Given the description of an element on the screen output the (x, y) to click on. 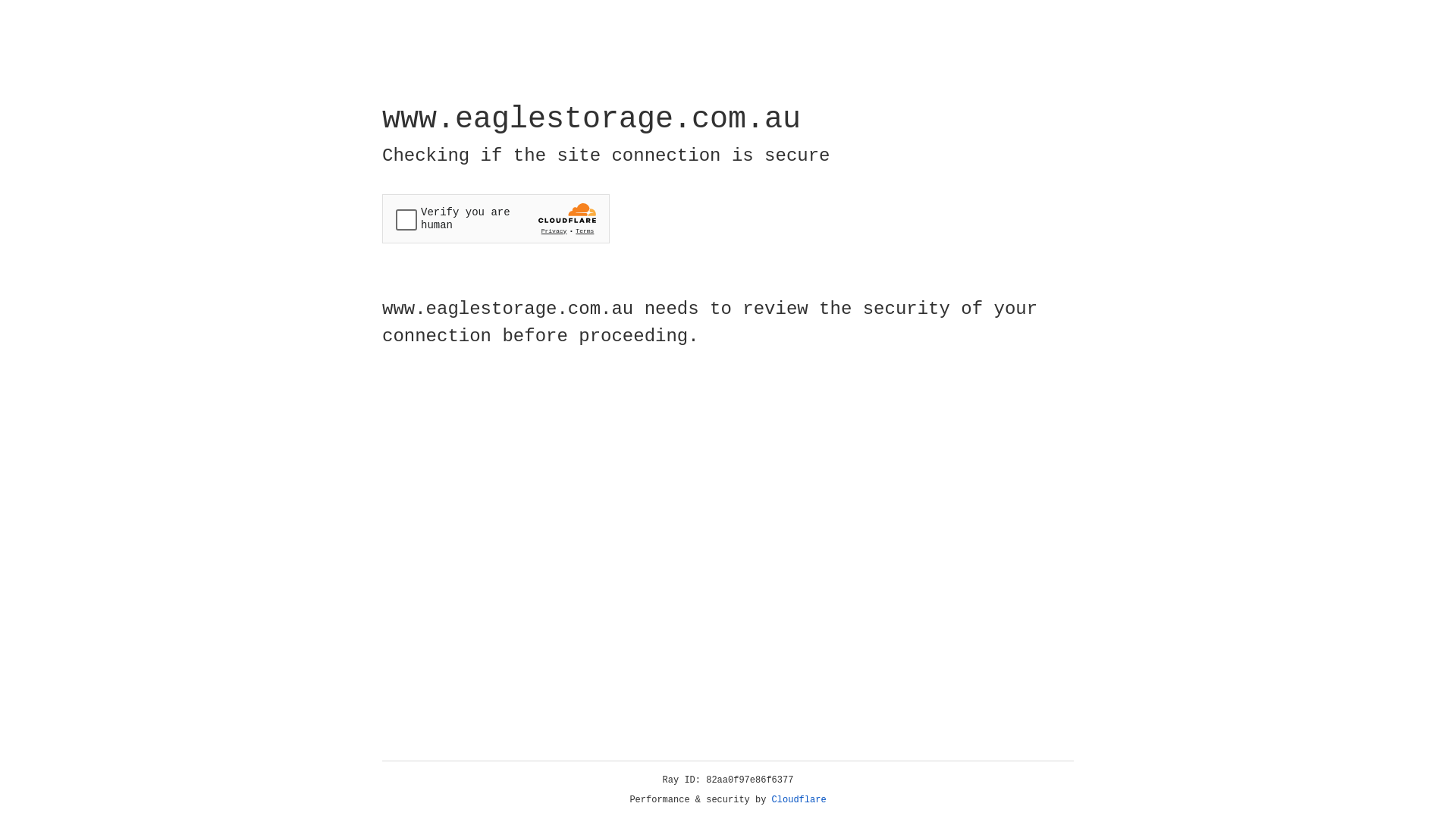
Widget containing a Cloudflare security challenge Element type: hover (495, 218)
Cloudflare Element type: text (798, 799)
